Given the description of an element on the screen output the (x, y) to click on. 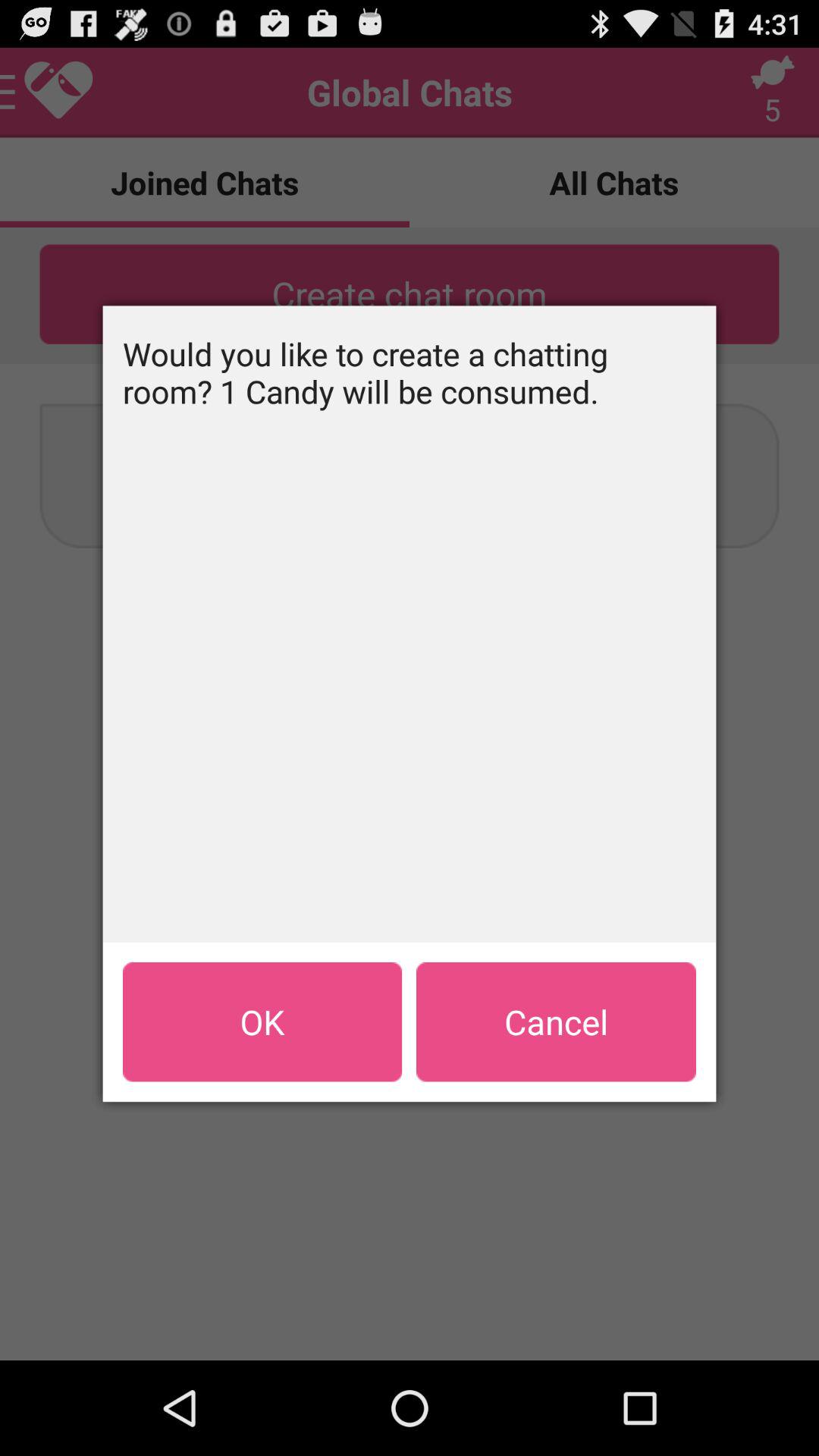
open icon next to ok item (556, 1021)
